Given the description of an element on the screen output the (x, y) to click on. 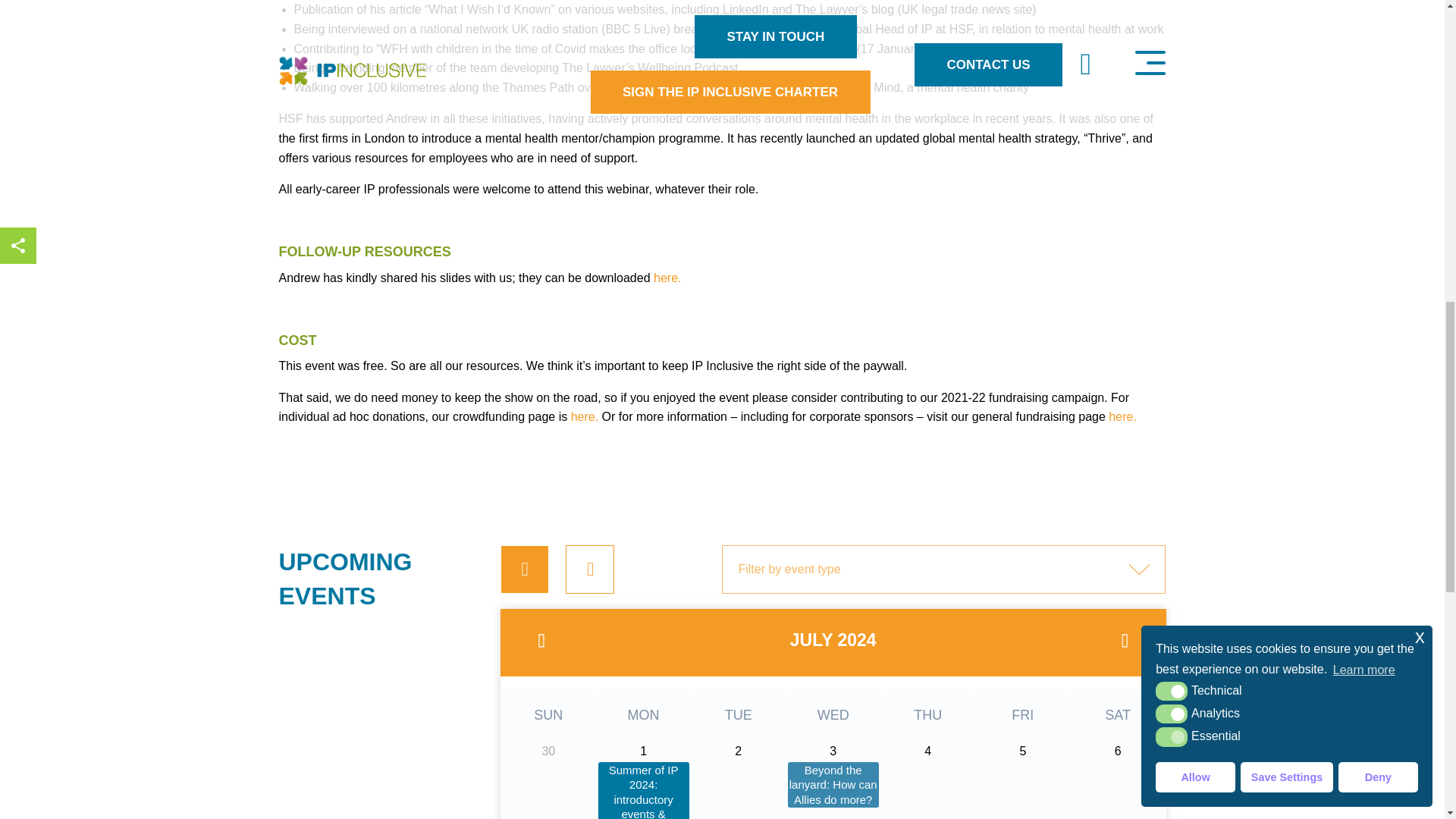
here. (1121, 416)
here. (667, 277)
here. (584, 416)
